Given the description of an element on the screen output the (x, y) to click on. 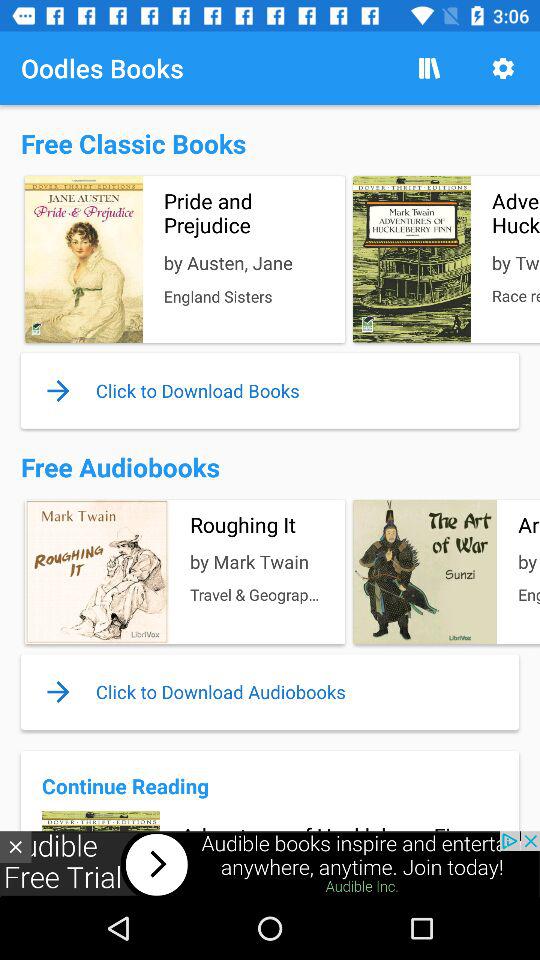
select the right side image below free classic books (444, 259)
